Given the description of an element on the screen output the (x, y) to click on. 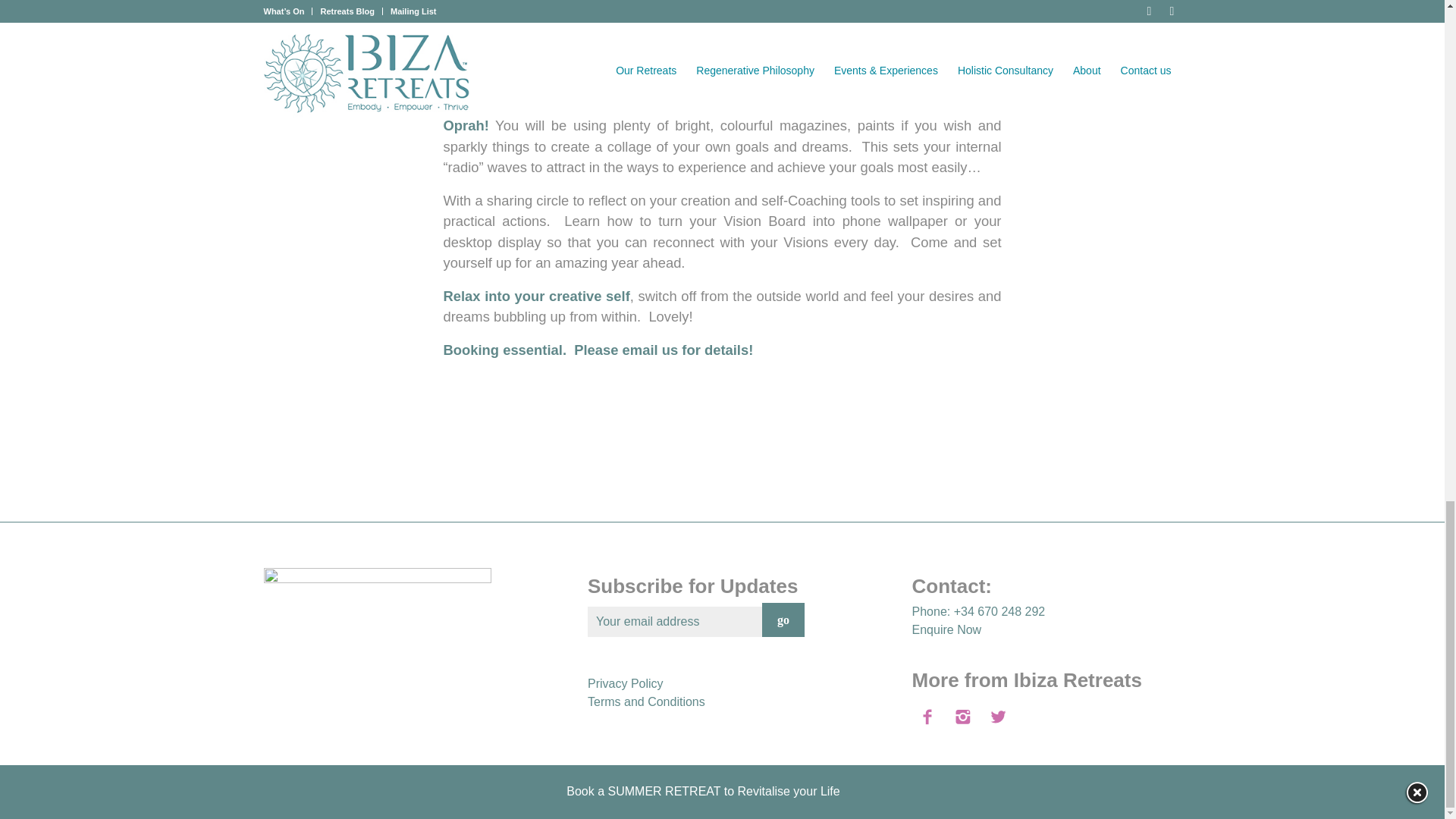
Privacy Policy (625, 683)
Instagram (1169, 796)
Facebook (1146, 796)
Terms and Conditions (646, 701)
Enquire Now (946, 629)
go (783, 619)
go (783, 619)
